Given the description of an element on the screen output the (x, y) to click on. 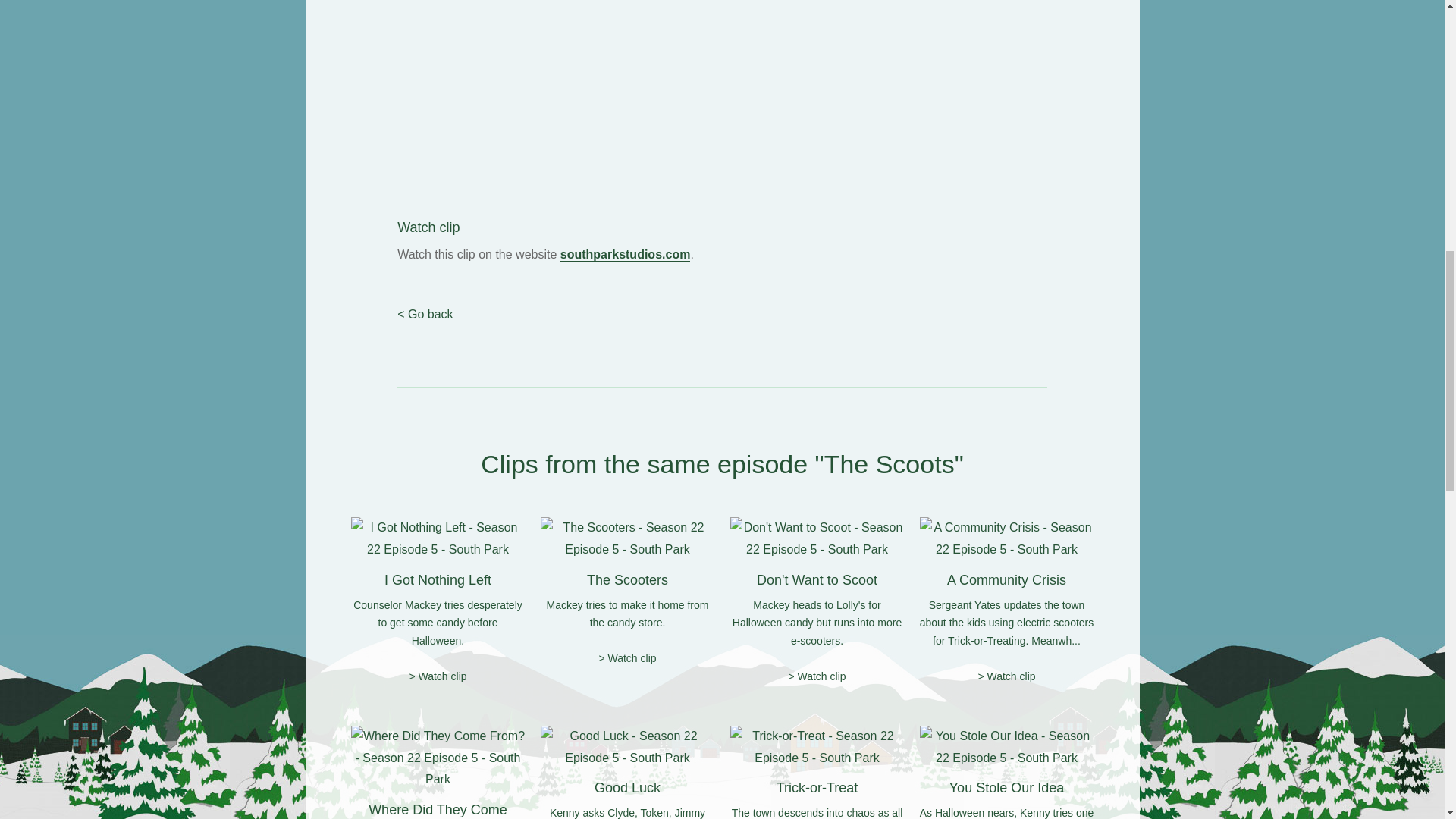
Trick-or-Treat - Season 22 Episode 5 - South Park (816, 747)
The Scoots (889, 463)
Good Luck - Season 22 Episode 5 - South Park (627, 747)
A Community Crisis - Season 22 Episode 5 - South Park (1005, 538)
I Got Nothing Left - Season 22 Episode 5 - South Park (437, 538)
Where Did They Come From? - Season 22 Episode 5 - South Park (437, 758)
Don't Want to Scoot - Season 22 Episode 5 - South Park (816, 538)
The Scooters - Season 22 Episode 5 - South Park (627, 538)
southparkstudios.com (625, 254)
You Stole Our Idea - Season 22 Episode 5 - South Park (1005, 747)
